Given the description of an element on the screen output the (x, y) to click on. 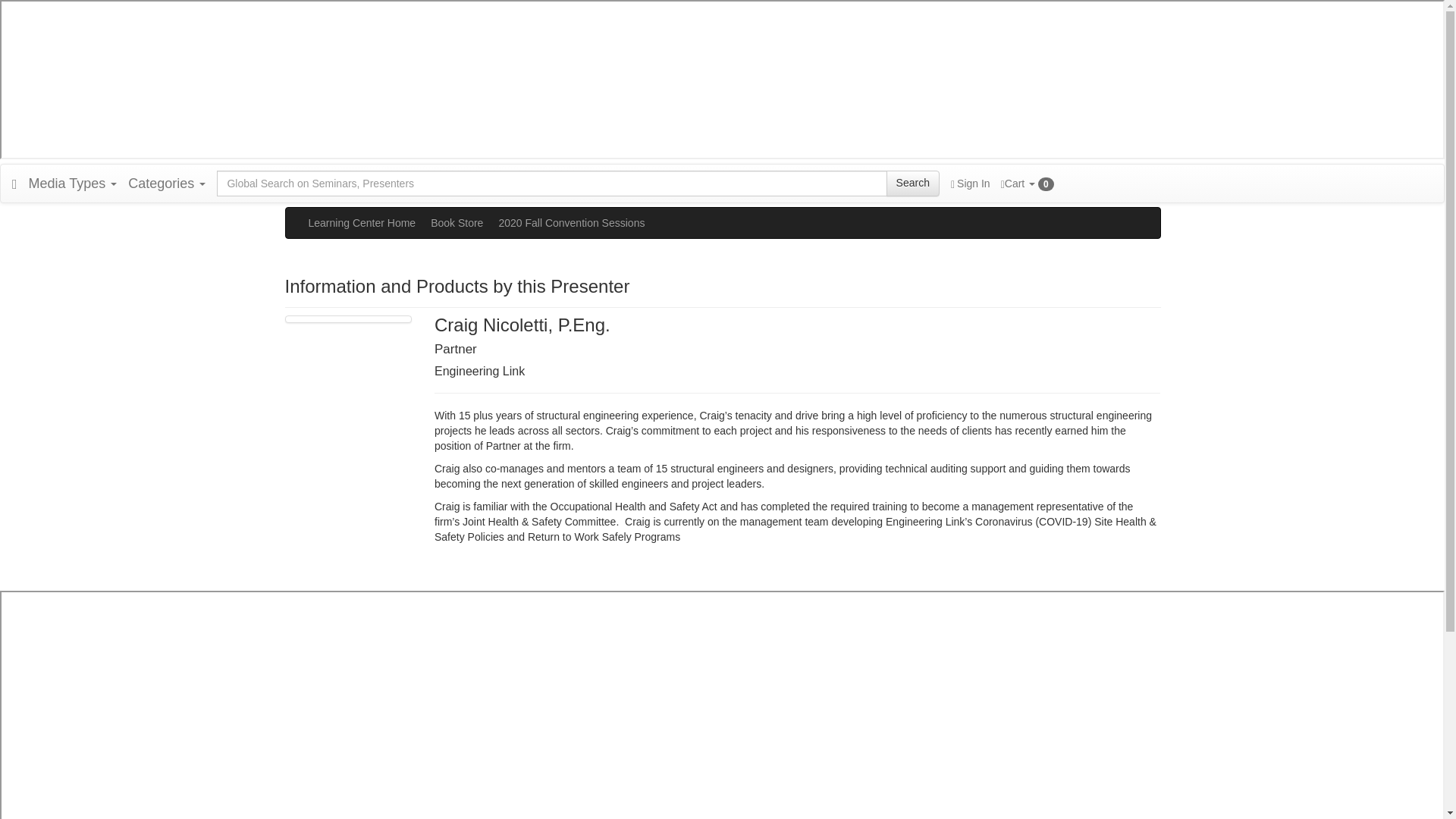
Sign In (970, 183)
Media Types (73, 183)
Categories (166, 183)
Search (912, 183)
Cart  0 (1027, 183)
